Given the description of an element on the screen output the (x, y) to click on. 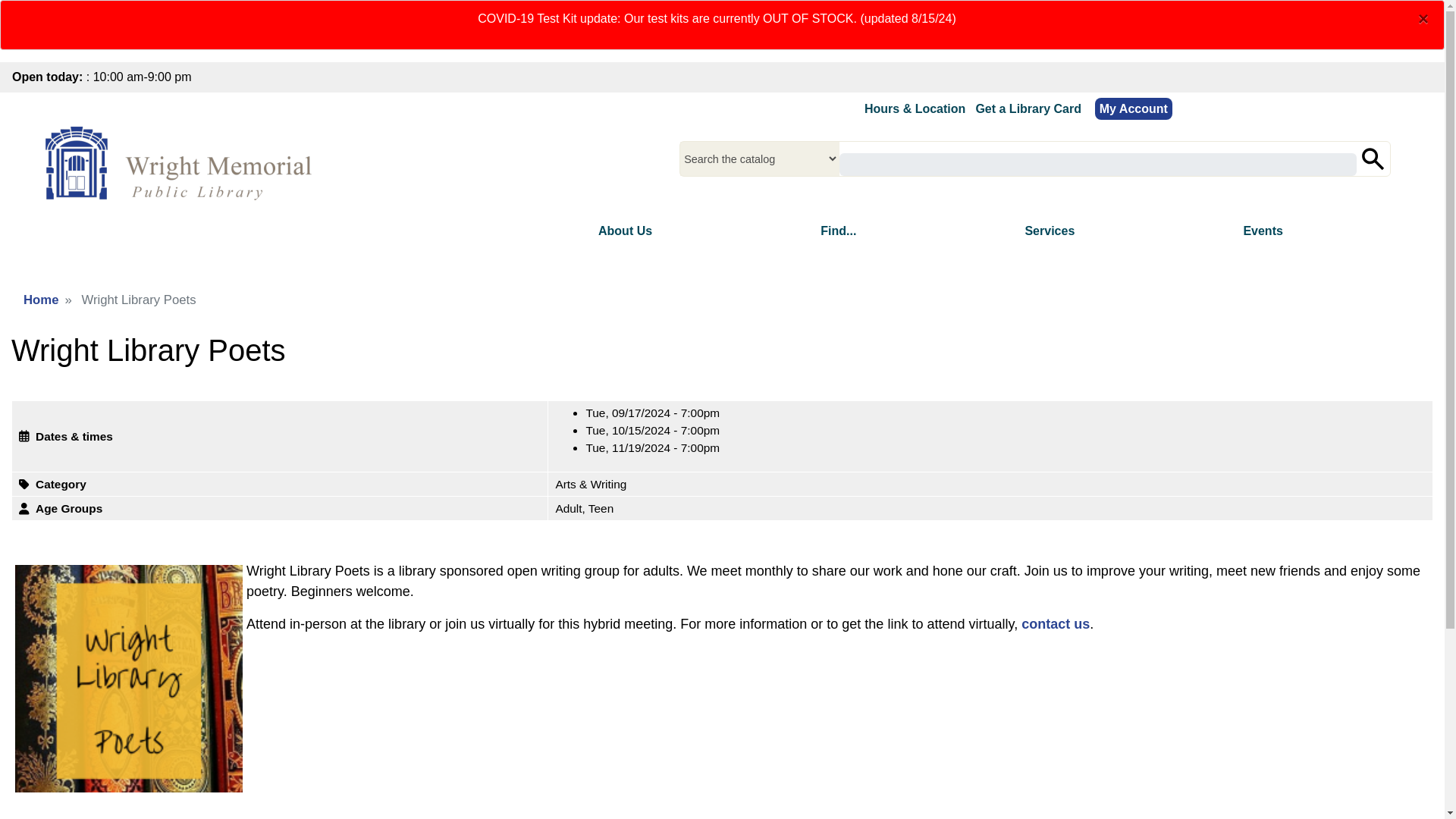
What we have (838, 230)
My Account (1133, 108)
Find... (838, 230)
Home (181, 164)
Skip to main content (721, 1)
Who we are (624, 230)
Get a Library Card (1028, 108)
About Us (624, 230)
Services (1049, 230)
